Given the description of an element on the screen output the (x, y) to click on. 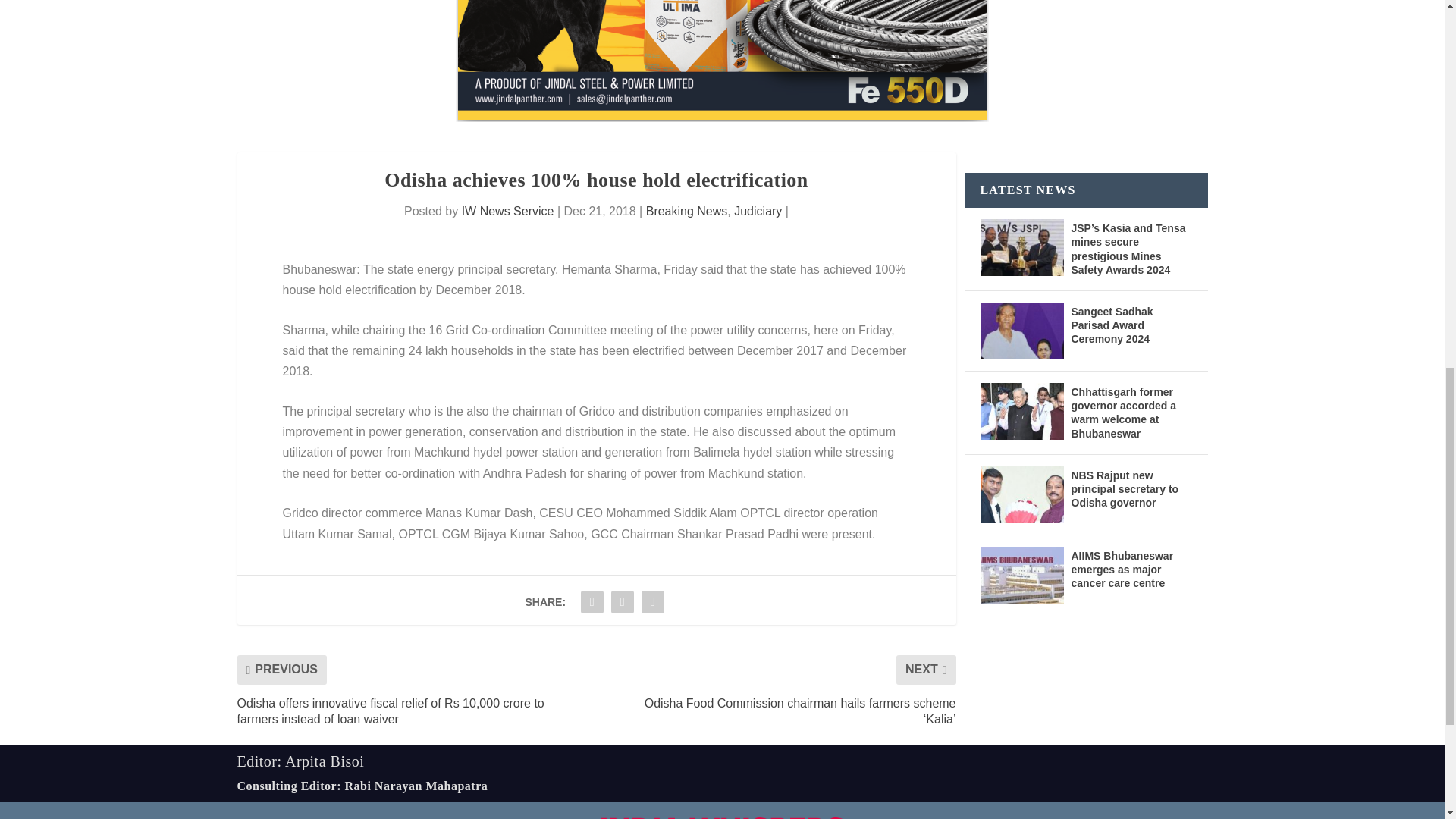
Posts by IW News Service (507, 210)
Sangeet Sadhak Parisad Award Ceremony 2024 (1020, 330)
